Given the description of an element on the screen output the (x, y) to click on. 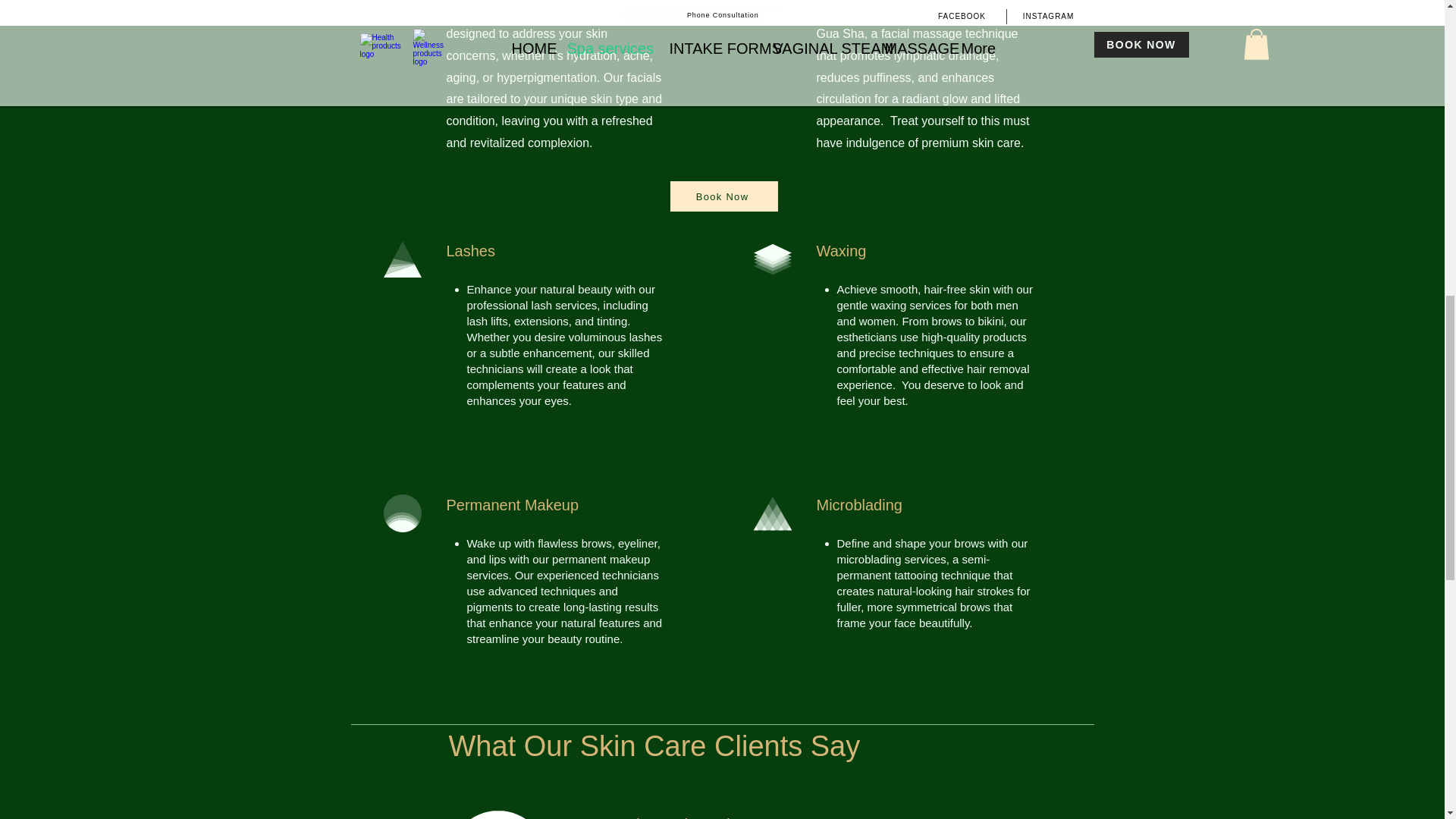
Book Now (723, 195)
